Given the description of an element on the screen output the (x, y) to click on. 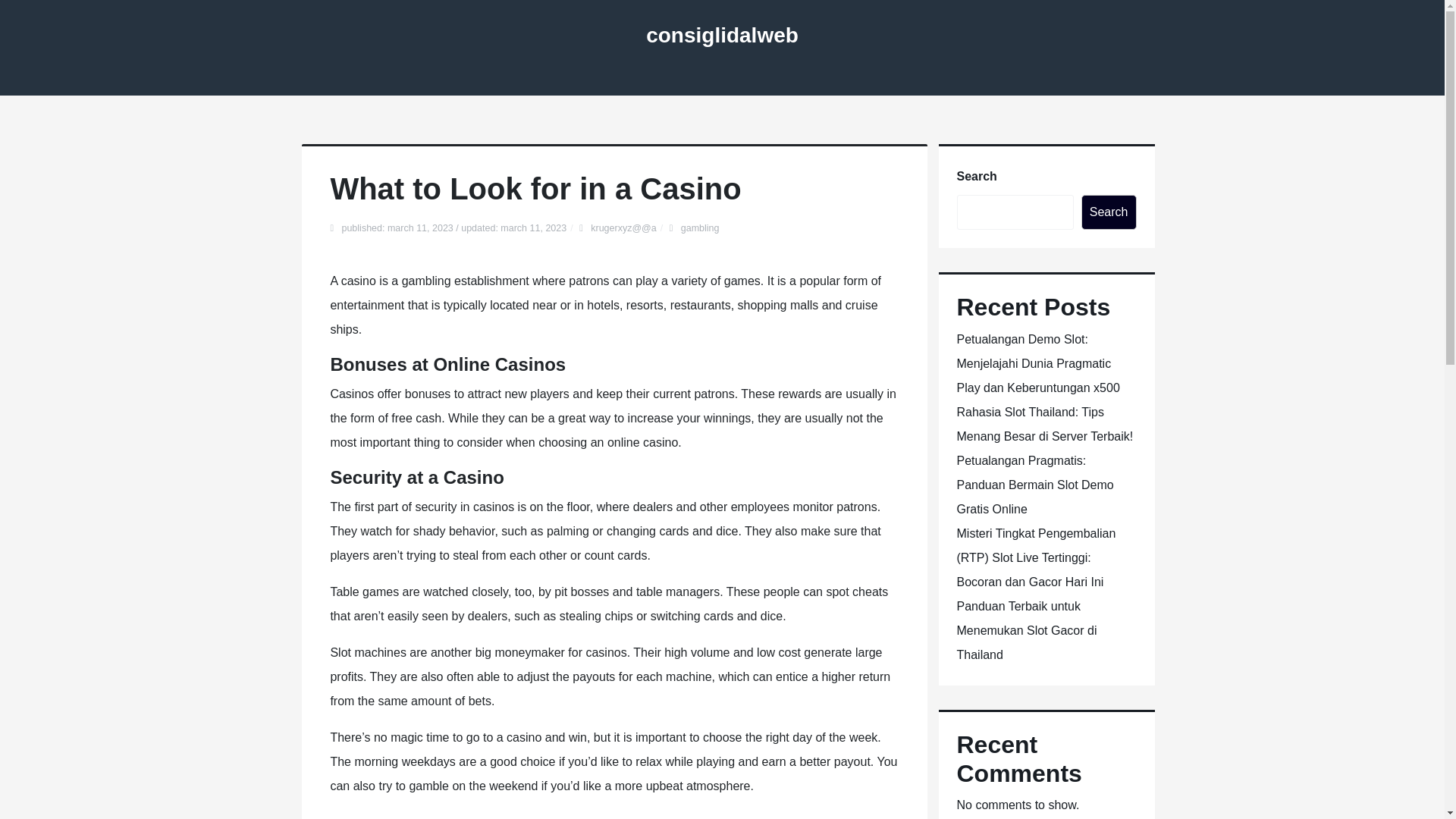
Search (1109, 212)
Panduan Terbaik untuk Menemukan Slot Gacor di Thailand (1026, 629)
consiglidalweb (721, 34)
gambling (700, 227)
Rahasia Slot Thailand: Tips Menang Besar di Server Terbaik! (1045, 424)
